Given the description of an element on the screen output the (x, y) to click on. 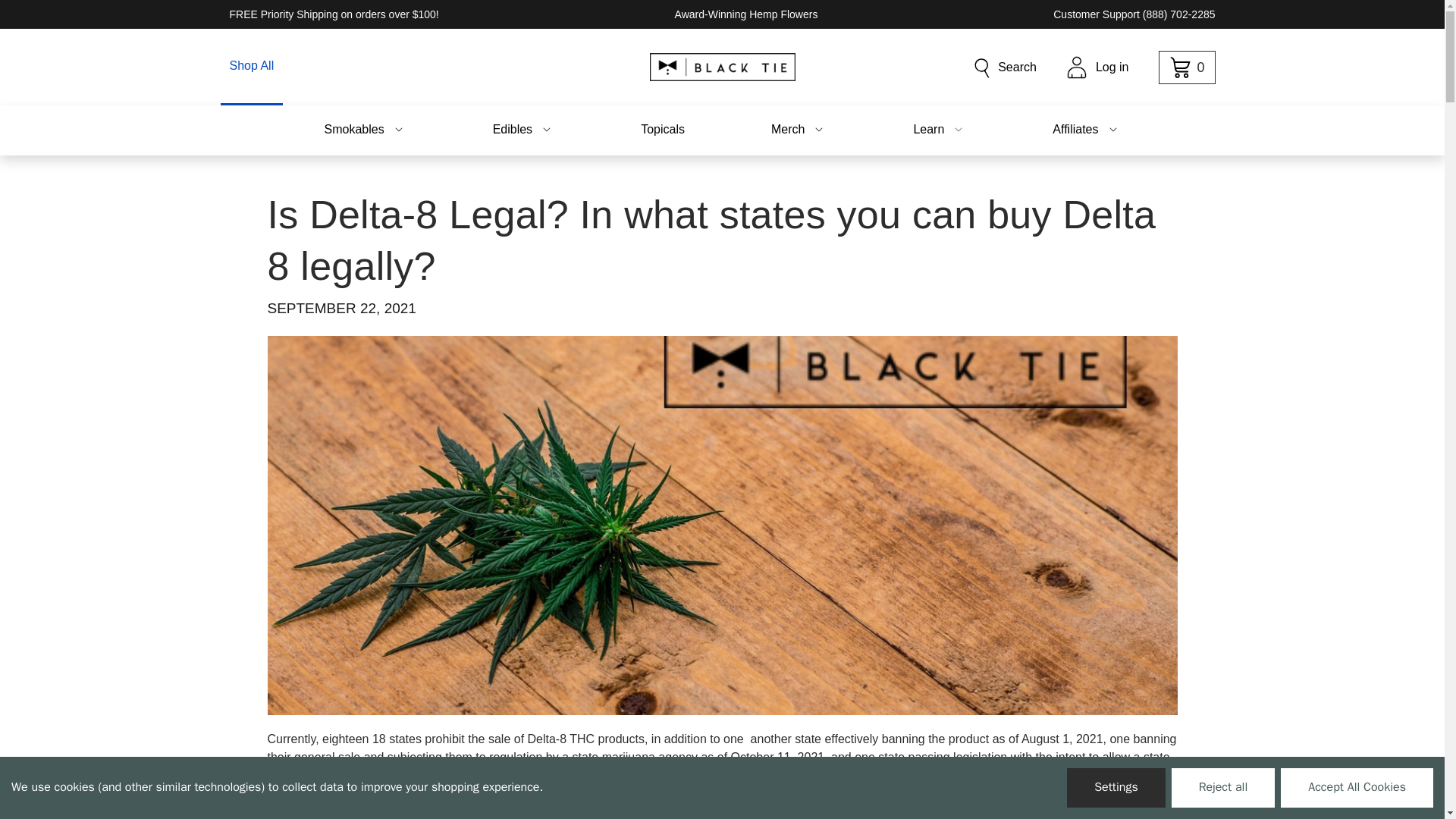
Log in (1098, 67)
Edibles (523, 130)
0 (1186, 66)
BlackTieCBD.Net (721, 67)
Smokables (364, 130)
Smokables (364, 130)
Search (1003, 67)
